Given the description of an element on the screen output the (x, y) to click on. 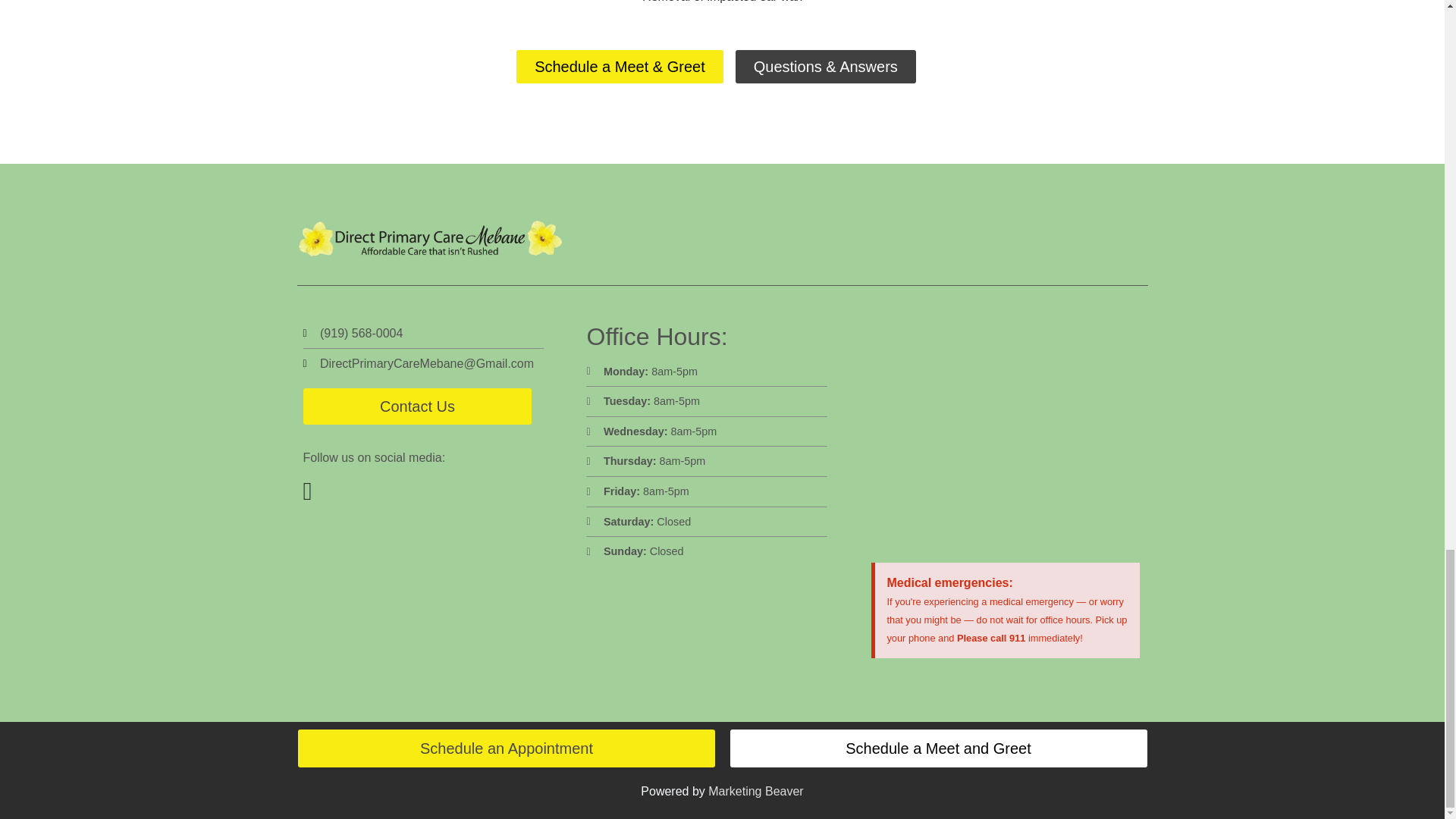
302 W. Graham Street, Mebane, NC 27302 (1005, 433)
